Given the description of an element on the screen output the (x, y) to click on. 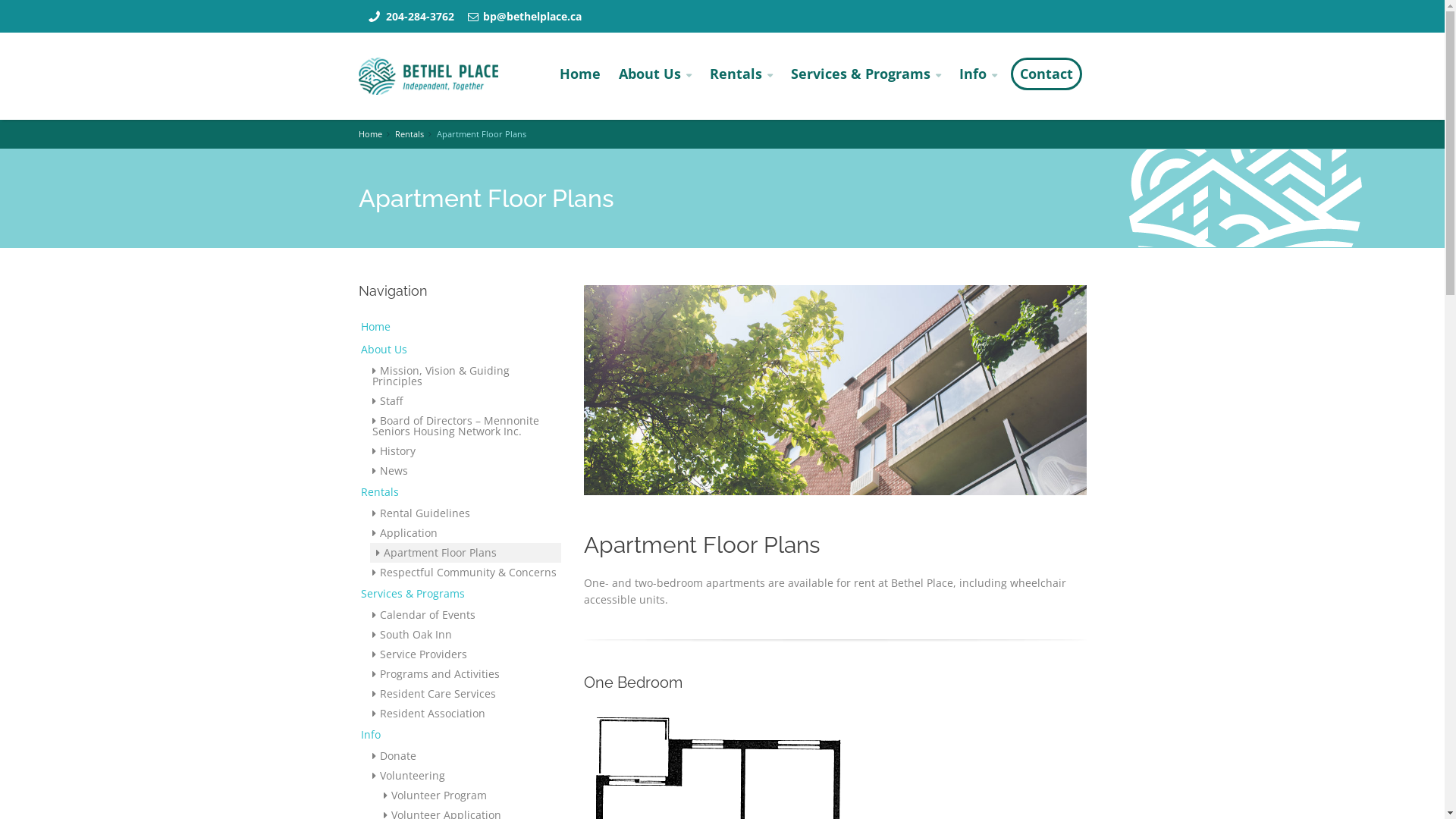
Rentals Element type: text (458, 491)
History Element type: text (465, 451)
Service Providers Element type: text (465, 654)
Volunteering Element type: text (465, 775)
Home Element type: text (369, 133)
Apartment Floor Plans Element type: text (465, 552)
Info Element type: text (458, 734)
Volunteer Program Element type: text (470, 795)
Home Element type: text (458, 326)
Mission, Vision & Guiding Principles Element type: text (465, 375)
South Oak Inn Element type: text (465, 634)
bp@bethelplace.ca Element type: text (531, 16)
Info Element type: text (977, 73)
Resident Association Element type: text (465, 713)
Application Element type: text (465, 532)
Programs and Activities Element type: text (465, 674)
Services & Programs Element type: text (865, 73)
Rentals Element type: text (740, 73)
Rental Guidelines Element type: text (465, 513)
About Us Element type: text (654, 73)
Respectful Community & Concerns Element type: text (465, 572)
Donate Element type: text (465, 755)
About Us Element type: text (458, 349)
Rentals Element type: text (409, 133)
Resident Care Services Element type: text (465, 693)
Services & Programs Element type: text (458, 593)
News Element type: text (465, 470)
Calendar of Events Element type: text (465, 614)
Contact Element type: text (1045, 73)
Staff Element type: text (465, 401)
204-284-3762 Element type: text (419, 16)
Home Element type: text (579, 73)
